Given the description of an element on the screen output the (x, y) to click on. 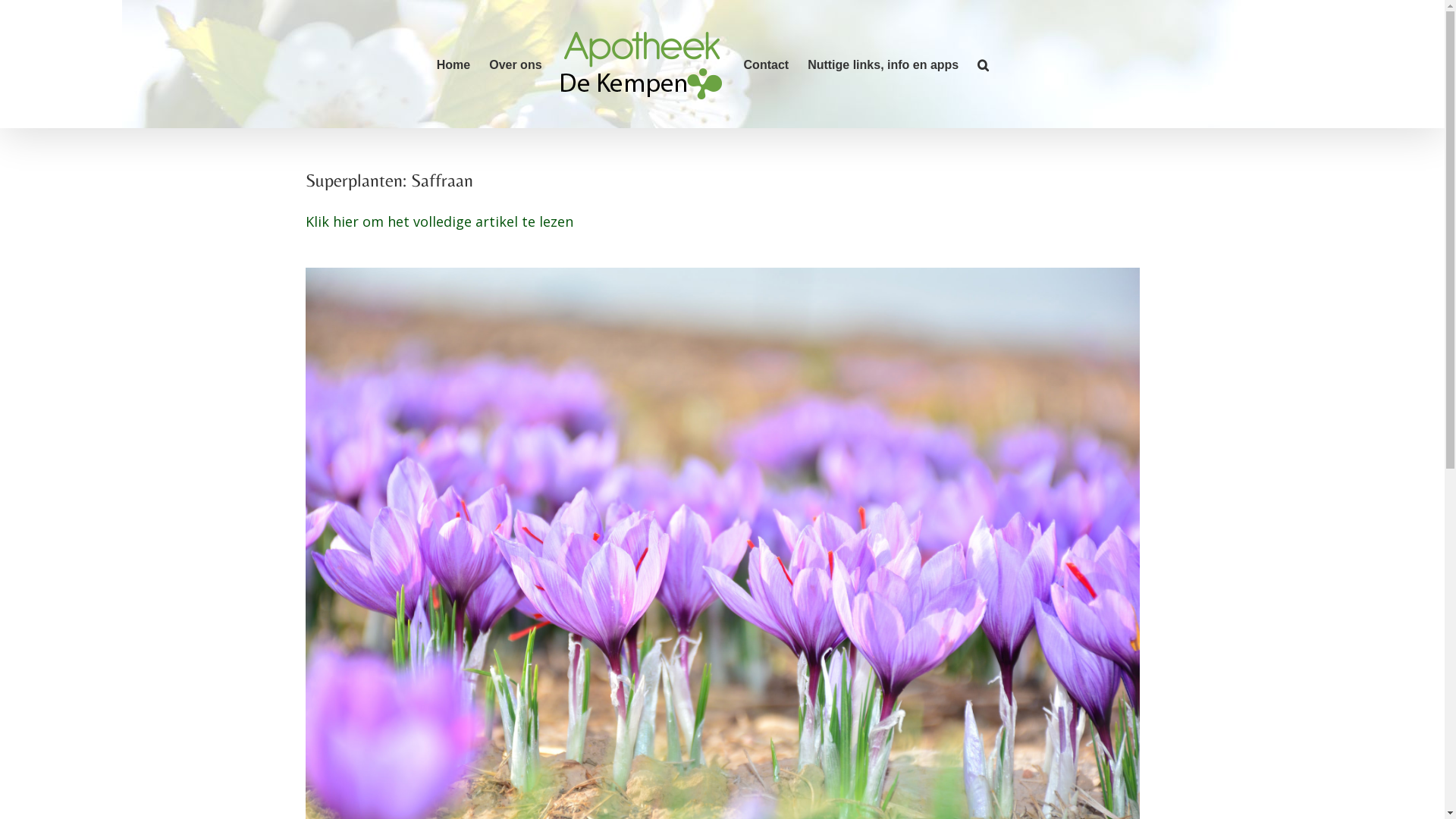
Zoeken Element type: hover (982, 63)
Home Element type: text (453, 63)
Klik hier om het volledige artikel te lezen Element type: text (438, 221)
Nuttige links, info en apps Element type: text (882, 63)
Over ons Element type: text (515, 63)
Contact Element type: text (766, 63)
